Given the description of an element on the screen output the (x, y) to click on. 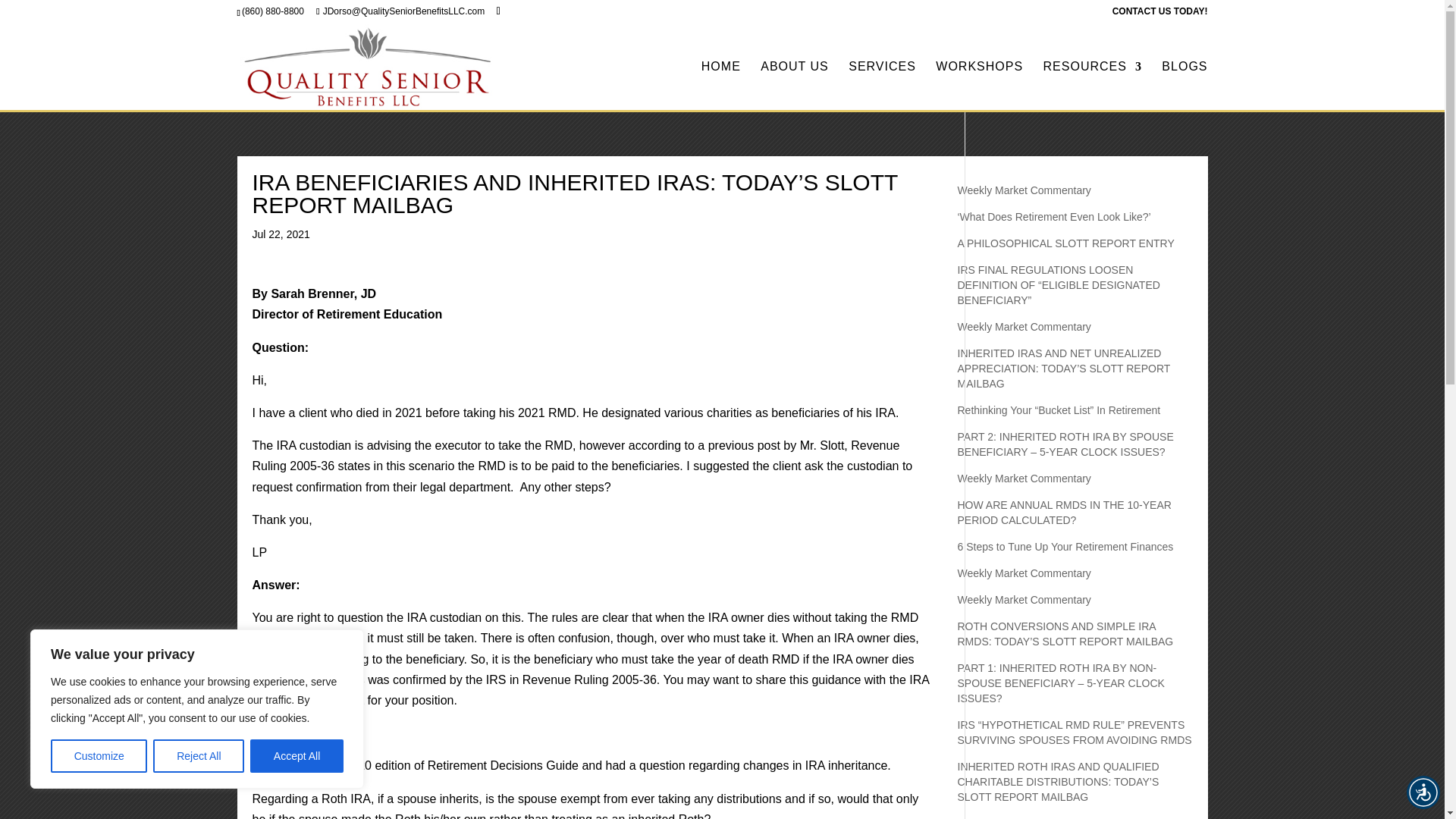
ABOUT US (794, 85)
Reject All (198, 756)
BLOGS (1184, 85)
A PHILOSOPHICAL SLOTT REPORT ENTRY (1064, 243)
Accept All (296, 756)
Customize (98, 756)
RESOURCES (1092, 85)
SERVICES (881, 85)
WORKSHOPS (979, 85)
Weekly Market Commentary (1023, 190)
